Given the description of an element on the screen output the (x, y) to click on. 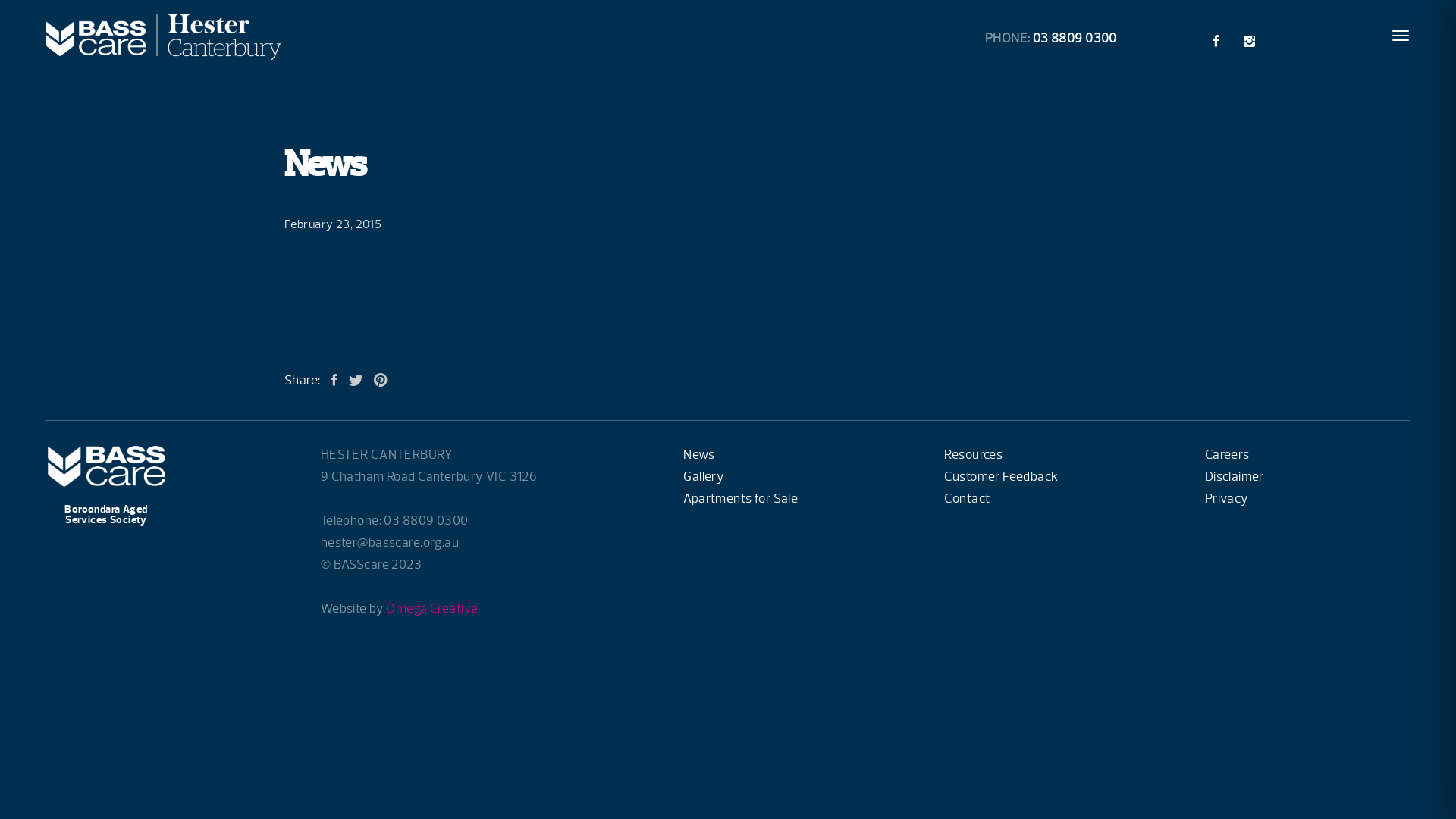
Gallery Element type: text (703, 476)
Resources Element type: text (973, 454)
News Element type: text (698, 454)
Apartments for Sale Element type: text (740, 498)
Careers Element type: text (1226, 454)
Contact Element type: text (966, 498)
Customer Feedback Element type: text (1000, 476)
Omega Creative Element type: text (431, 608)
Boroondara Aged Services Society Element type: text (109, 499)
Disclaimer Element type: text (1234, 476)
Privacy Element type: text (1226, 498)
